Given the description of an element on the screen output the (x, y) to click on. 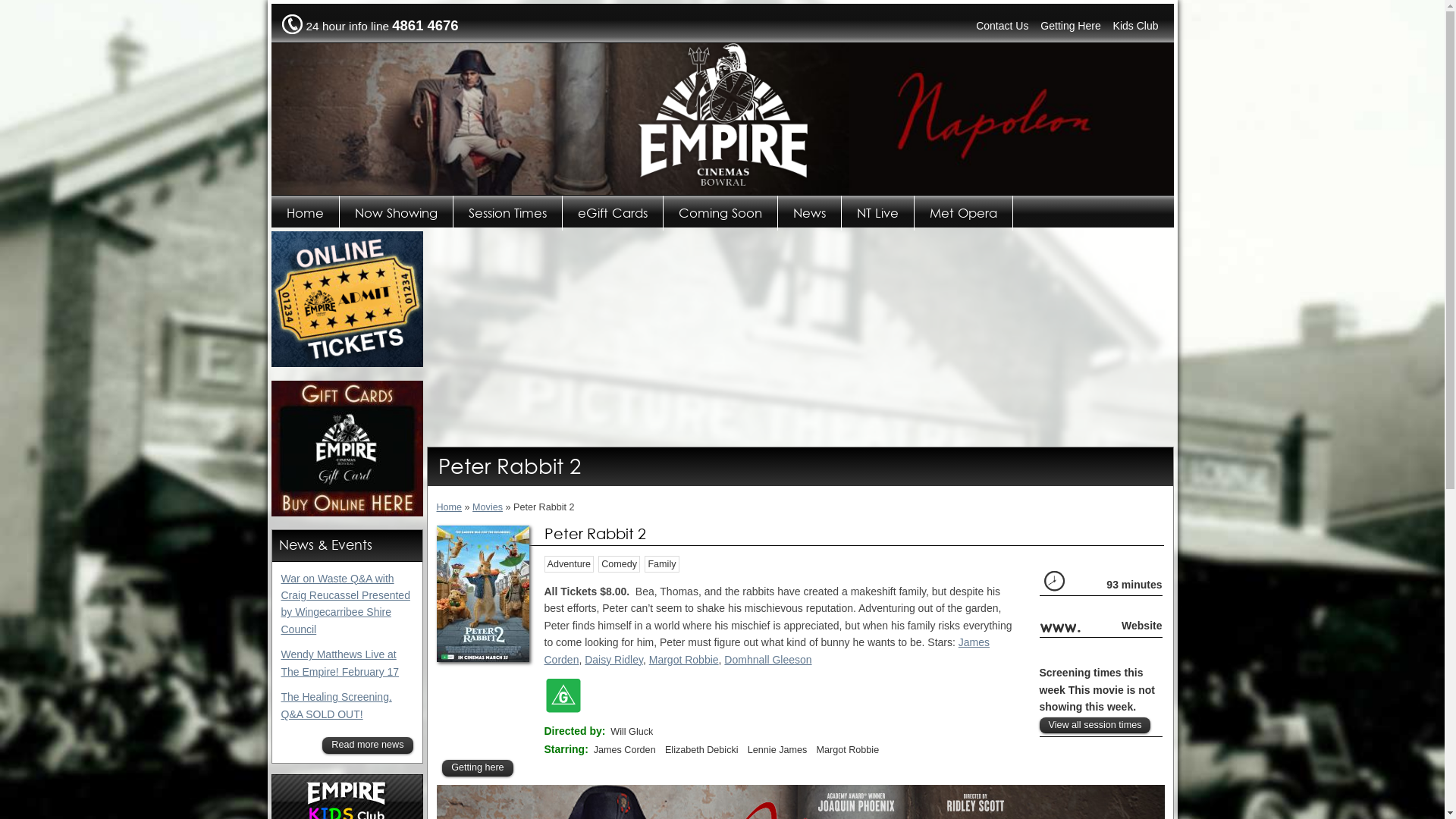
Home Element type: text (305, 212)
General Element type: hover (563, 695)
Movies Element type: text (487, 507)
Wendy Matthews Live at The Empire! February 17 Element type: text (339, 662)
Now Showing Element type: text (396, 212)
Read more news Element type: text (367, 745)
James Corden Element type: text (767, 650)
Kids Club Element type: text (1135, 25)
Website Element type: text (1141, 625)
Daisy Ridley Element type: text (613, 659)
The Healing Screening, Q&A SOLD OUT! Element type: text (335, 704)
Contact Us Element type: text (1001, 25)
Getting Here Element type: text (1070, 25)
Coming Soon Element type: text (719, 212)
View all session times Element type: text (1094, 725)
Home Element type: text (449, 507)
Getting here Element type: text (477, 767)
eGift Cards Element type: text (612, 212)
Met Opera Element type: text (963, 212)
Margot Robbie Element type: text (683, 659)
News Element type: text (809, 212)
Session Times Element type: text (507, 212)
Go back to the home page Element type: hover (721, 184)
NT Live Element type: text (877, 212)
Domhnall Gleeson Element type: text (767, 659)
